Given the description of an element on the screen output the (x, y) to click on. 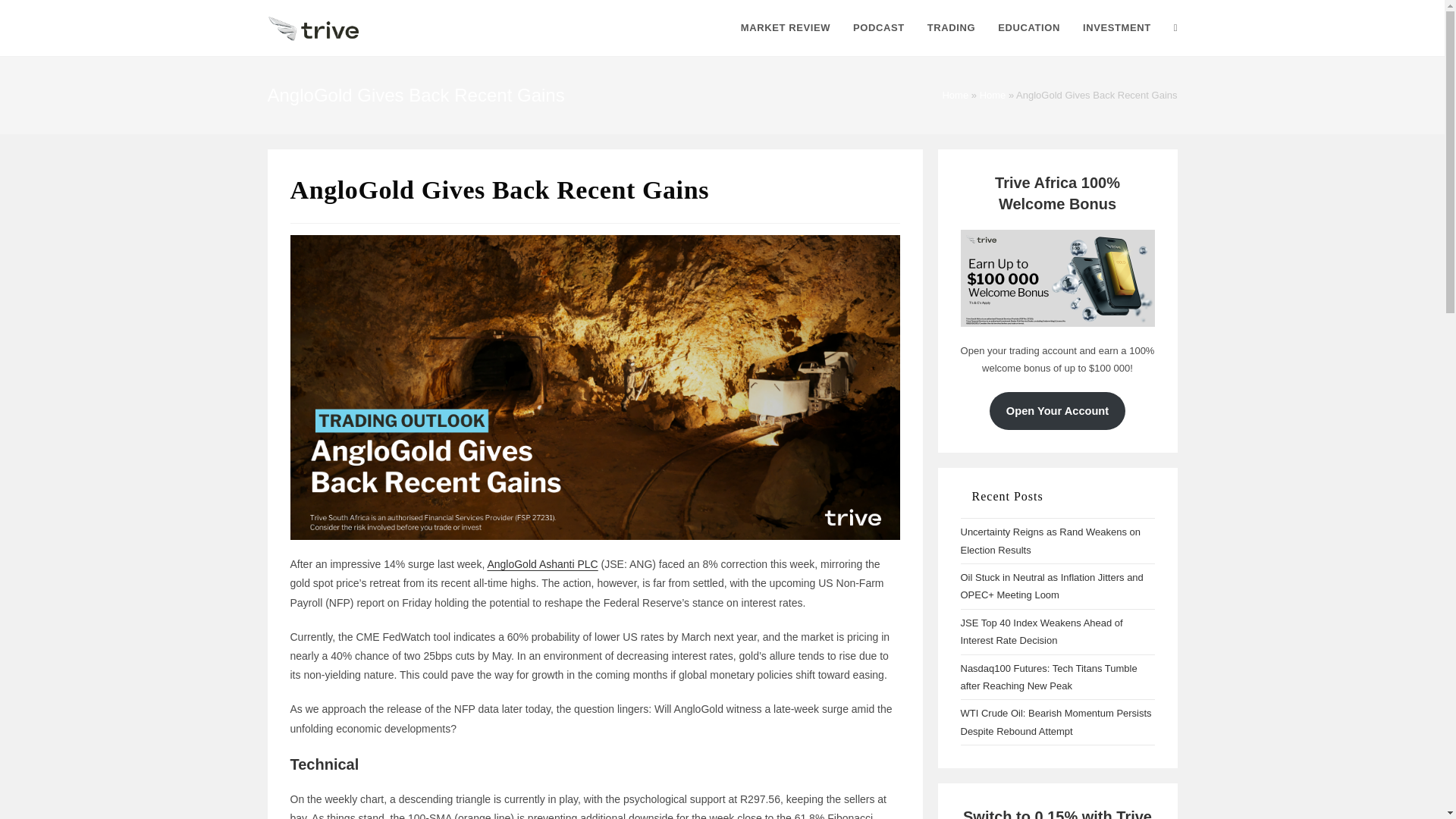
EDUCATION (1029, 28)
Home (955, 94)
Open Your Account (1057, 410)
Uncertainty Reigns as Rand Weakens on Election Results (1049, 540)
INVESTMENT (1116, 28)
MARKET REVIEW (785, 28)
JSE Top 40 Index Weakens Ahead of Interest Rate Decision (1040, 631)
Home (992, 94)
TRADING (951, 28)
PODCAST (878, 28)
AngloGold Ashanti PLC (541, 563)
